Given the description of an element on the screen output the (x, y) to click on. 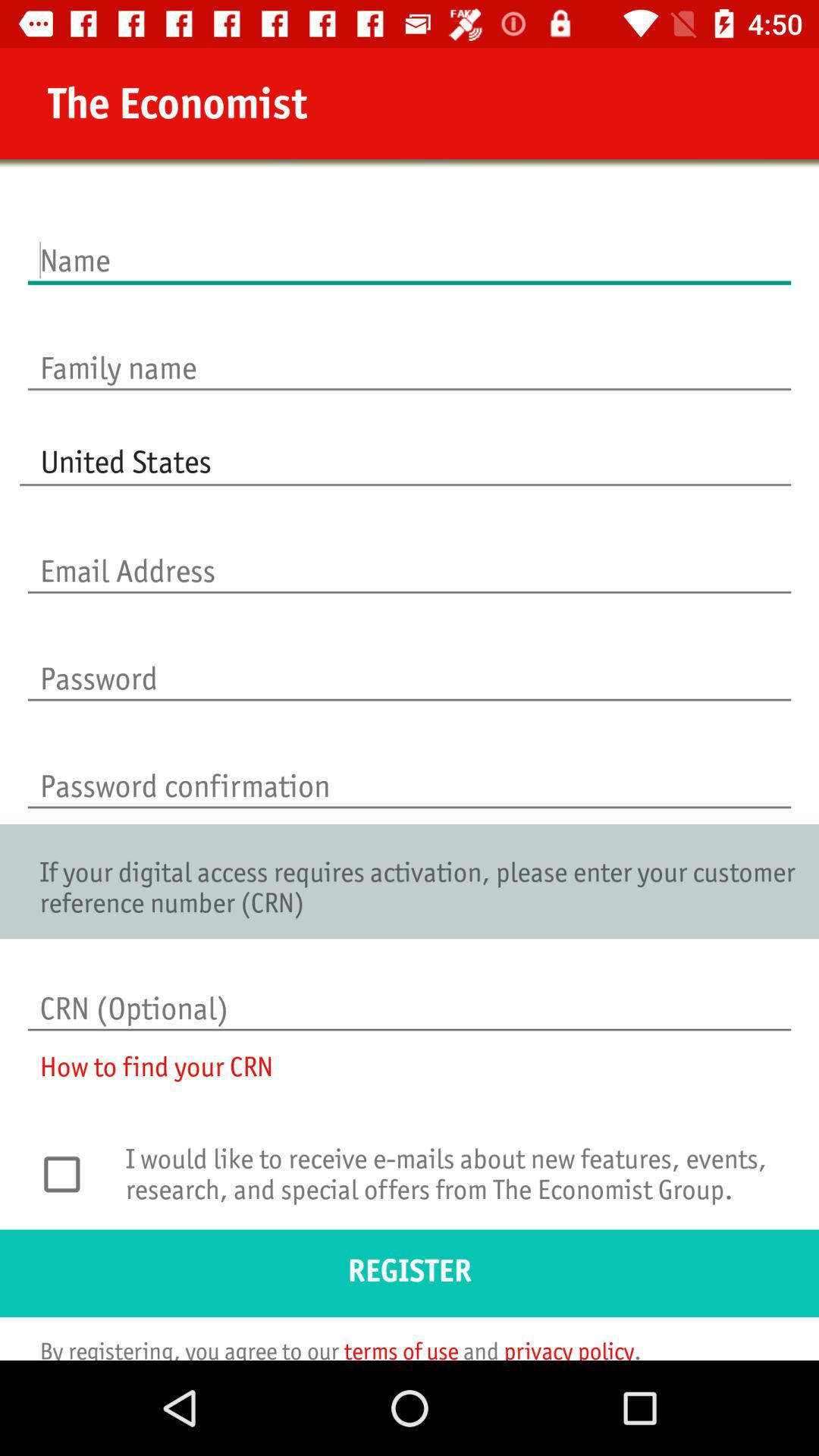
i accept (69, 1174)
